Given the description of an element on the screen output the (x, y) to click on. 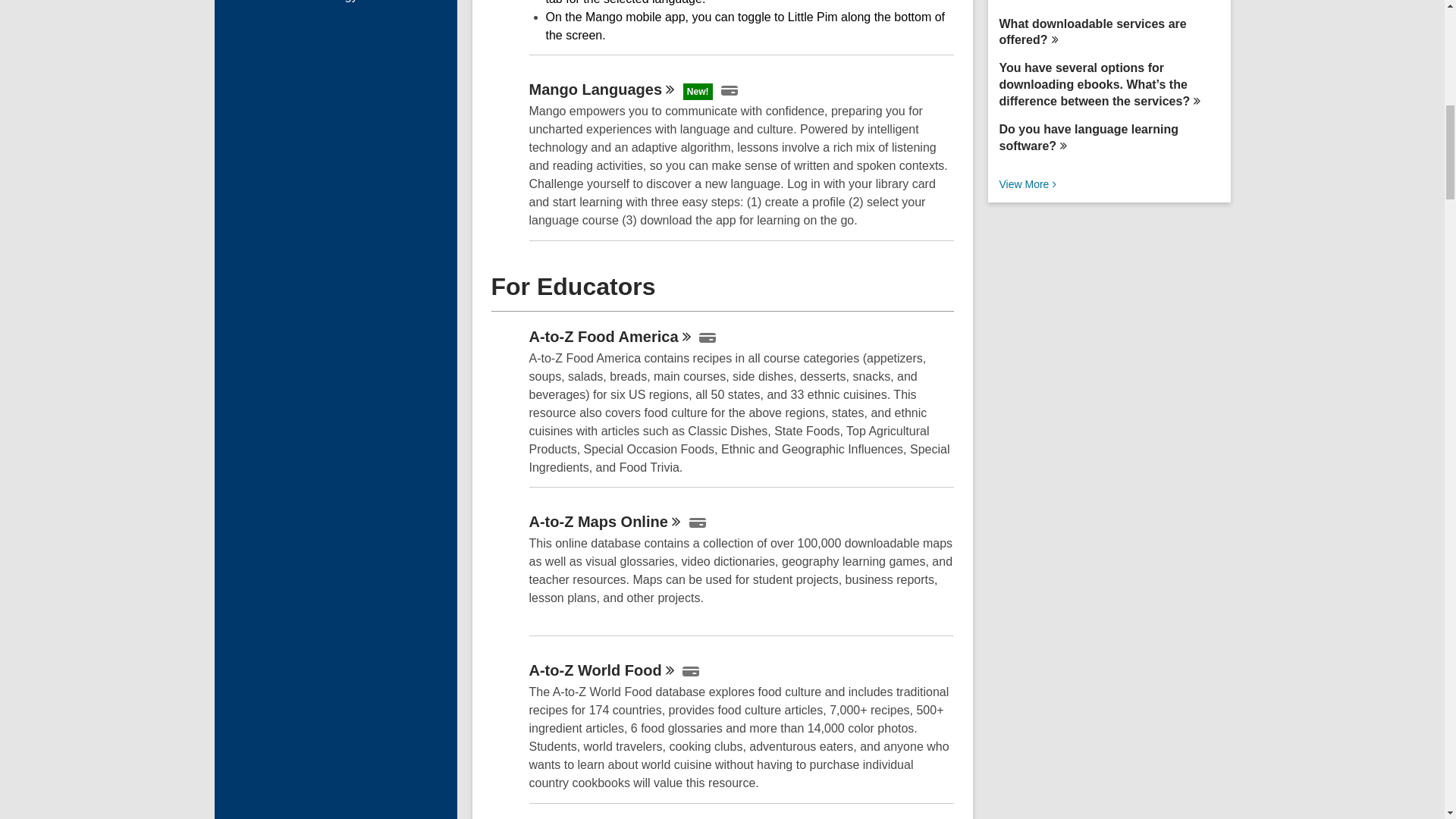
Library Card Required (697, 522)
Library Card Required (690, 671)
Library Card Required (707, 337)
Library Card Required (729, 90)
